Given the description of an element on the screen output the (x, y) to click on. 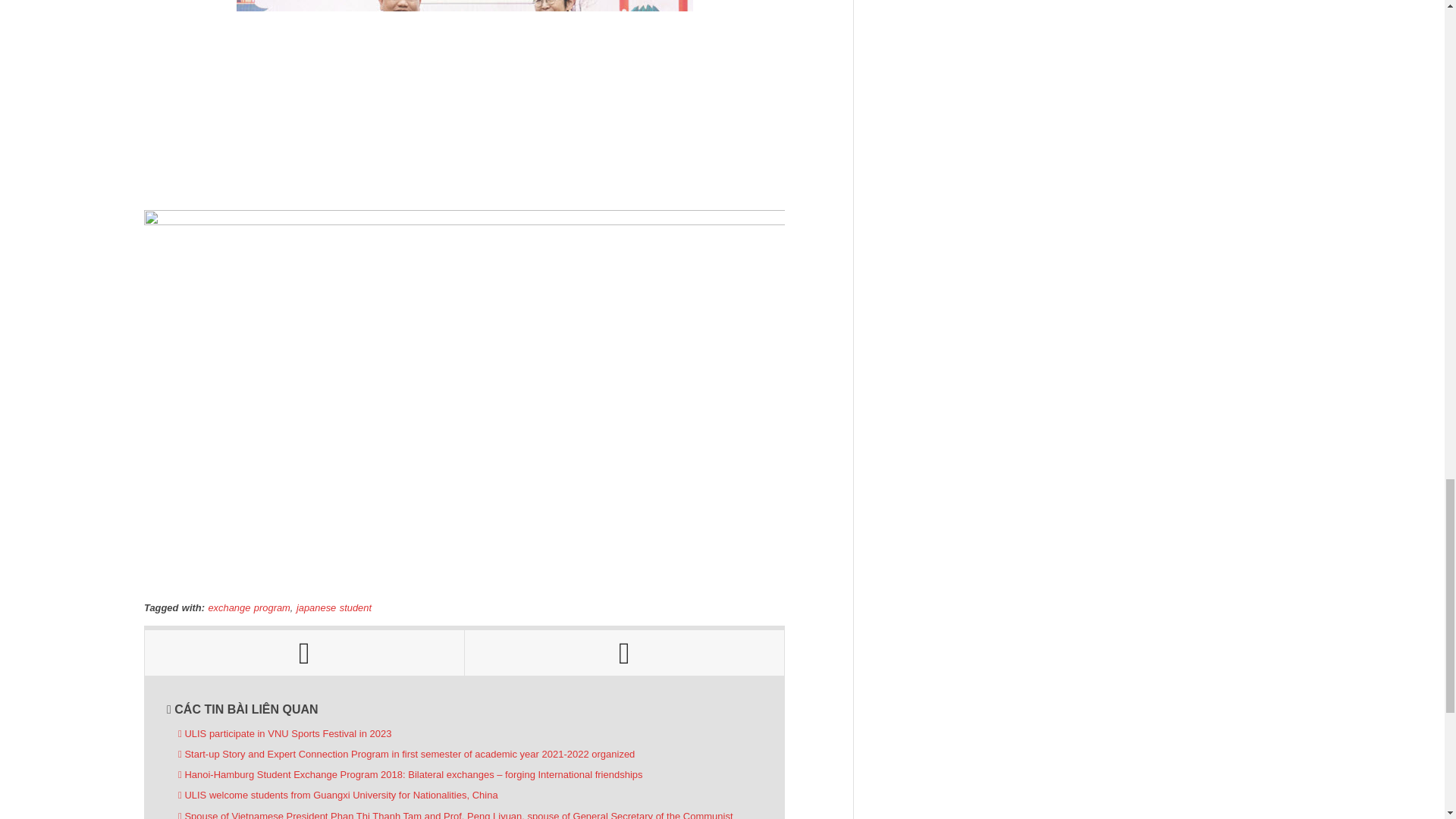
ULIS participate in VNU Sports Festival in 2023 (284, 733)
Next Post (624, 652)
Previous Post (304, 652)
